Given the description of an element on the screen output the (x, y) to click on. 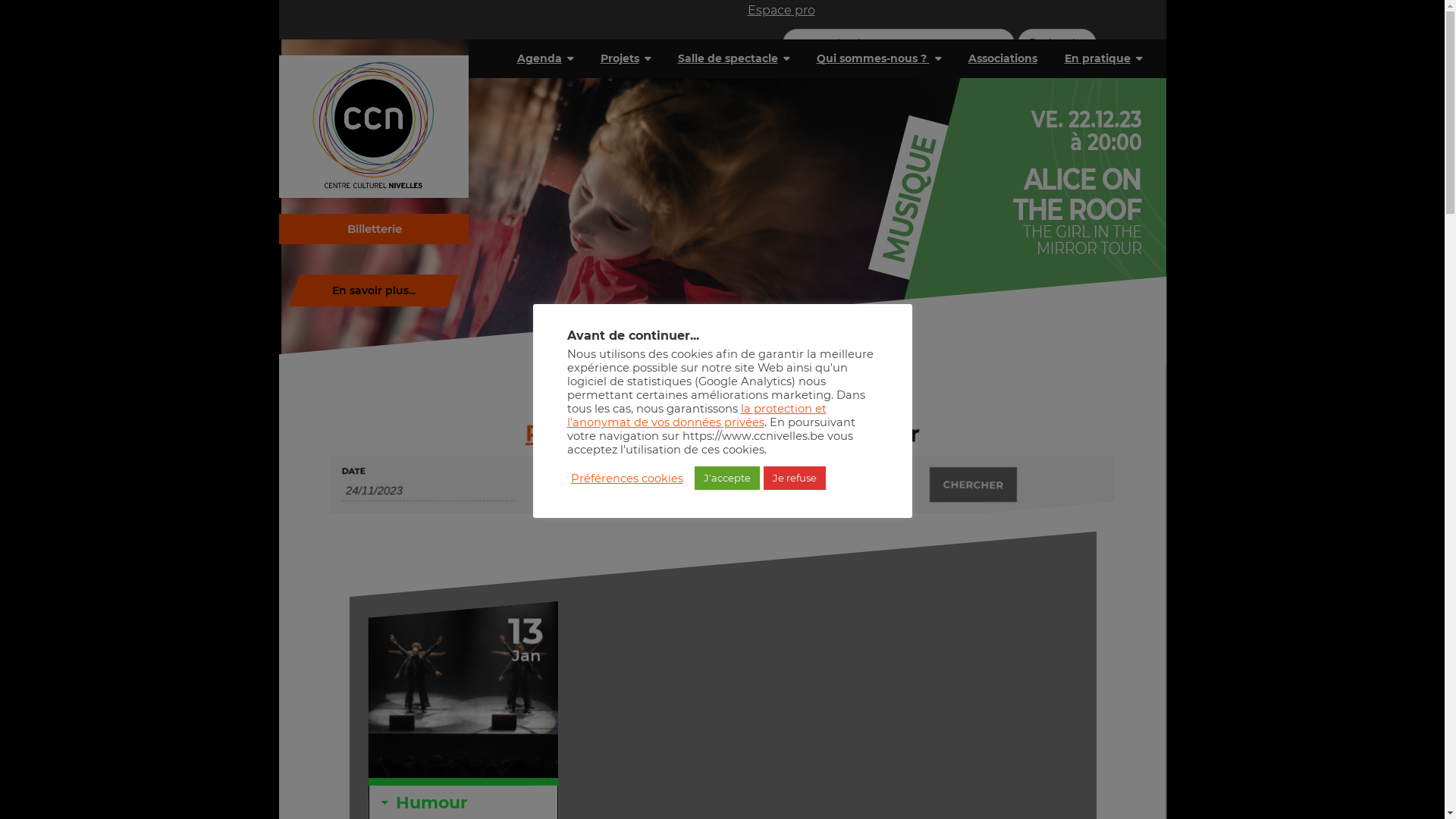
Chercher Element type: text (972, 484)
En savoir plus... Element type: text (726, 202)
J'accepte Element type: text (726, 477)
Qui sommes-nous ?  Element type: text (877, 58)
Espace pro Element type: text (781, 10)
Recherche Element type: text (1056, 43)
Je refuse Element type: text (793, 477)
Se connecter Element type: text (794, 76)
Projets Element type: text (625, 58)
Billetterie Element type: text (373, 228)
Salle de spectacle Element type: text (733, 58)
Agenda Element type: text (545, 58)
Associations Element type: text (1001, 58)
En pratique Element type: text (1103, 58)
Humour Element type: text (430, 803)
